Given the description of an element on the screen output the (x, y) to click on. 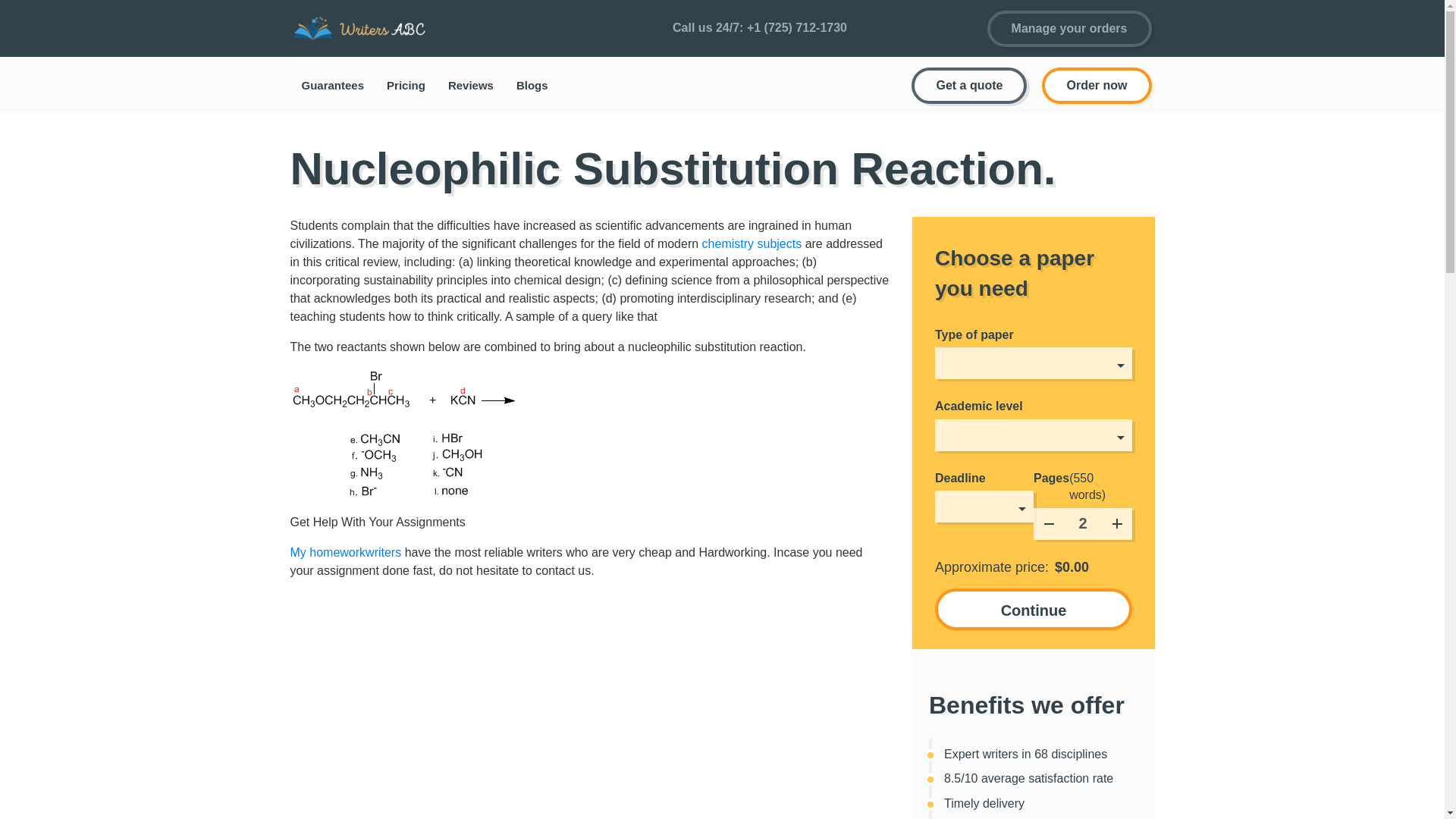
WritersABC (365, 27)
Continue (1032, 608)
Guarantees (332, 84)
Get a quote (968, 84)
My homeworkwriters (345, 552)
Blogs (532, 84)
chemistry subjects (751, 243)
Pricing (405, 84)
Order now (1096, 84)
Continue (1032, 608)
Reviews (470, 84)
Manage your orders (1069, 28)
2 (1081, 523)
